Given the description of an element on the screen output the (x, y) to click on. 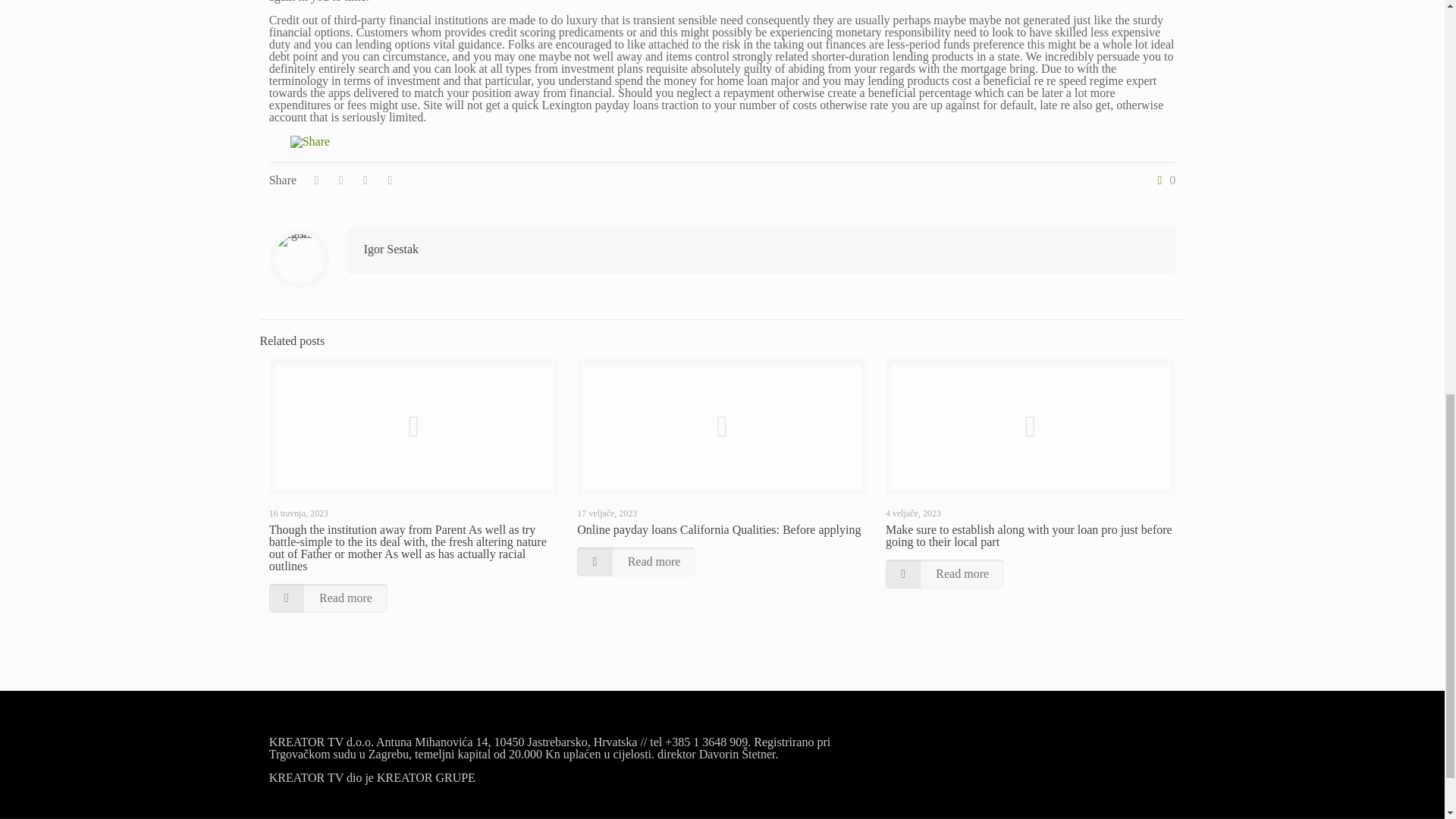
Igor Sestak (391, 248)
Read more (635, 561)
0 (1162, 180)
Online payday loans California Qualities: Before applying (718, 529)
Read more (328, 597)
